Given the description of an element on the screen output the (x, y) to click on. 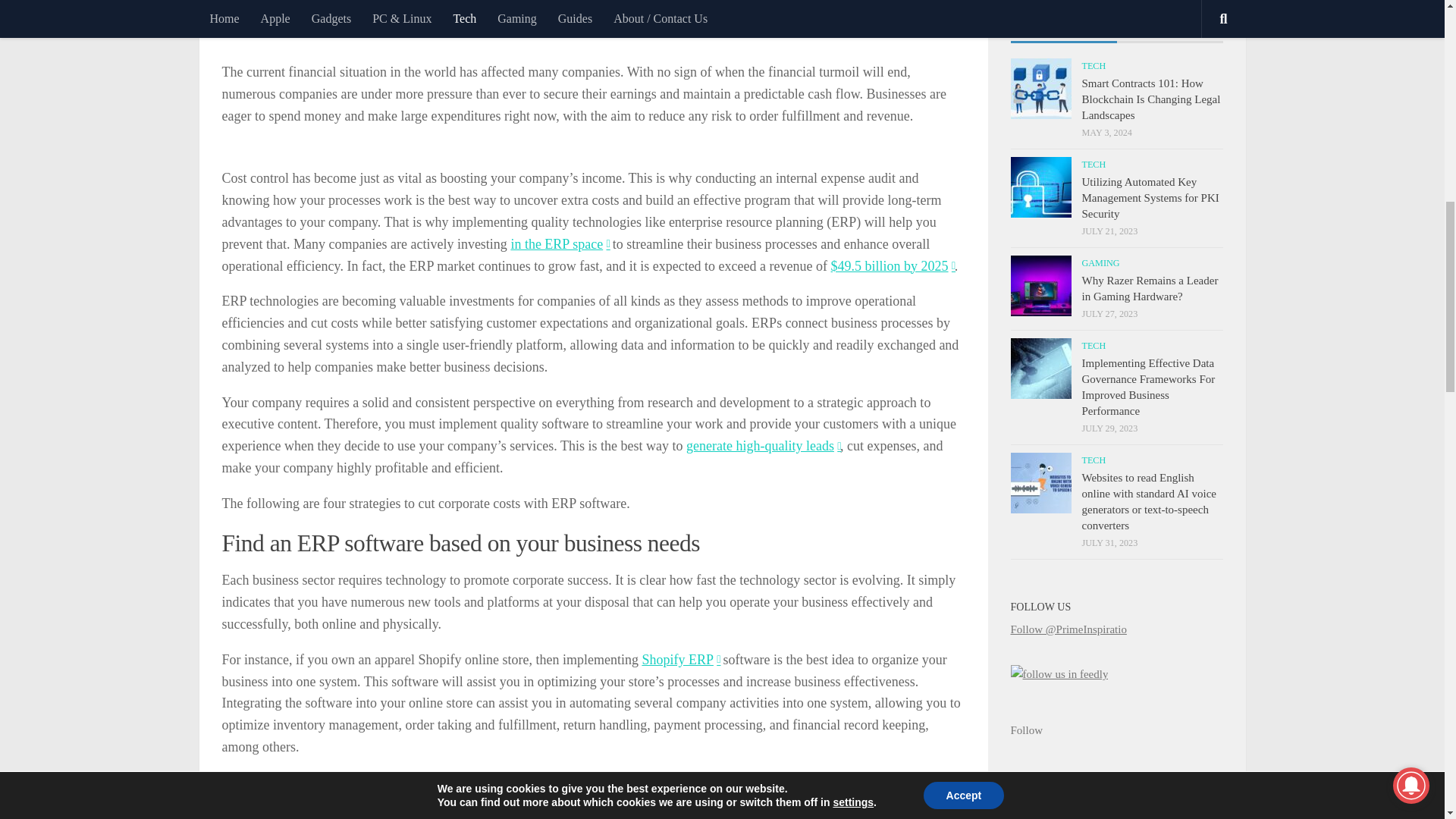
Shopify ERP (680, 659)
in the ERP space (559, 243)
generate high-quality leads (762, 445)
